Given the description of an element on the screen output the (x, y) to click on. 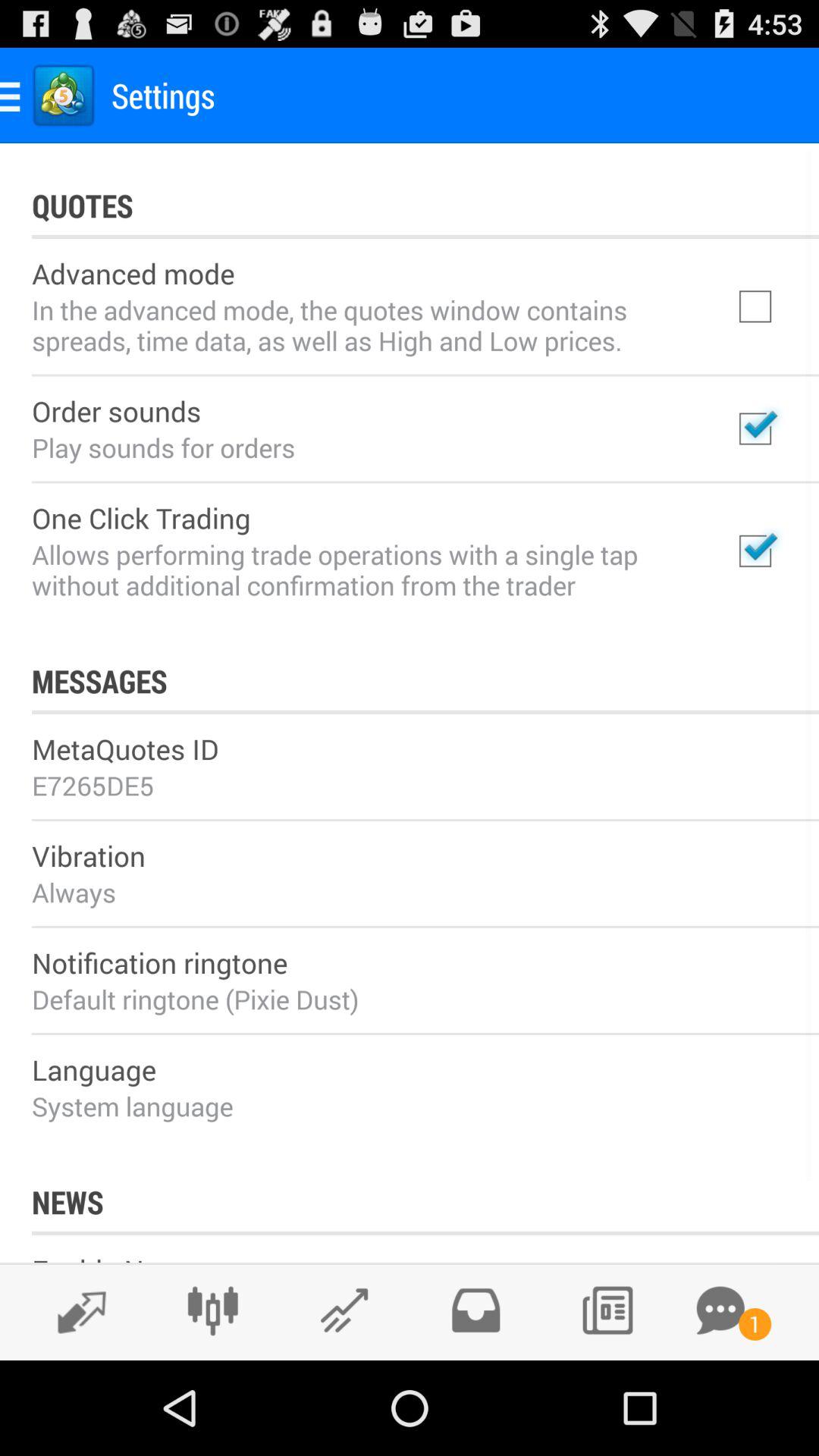
go to news (606, 1310)
